Given the description of an element on the screen output the (x, y) to click on. 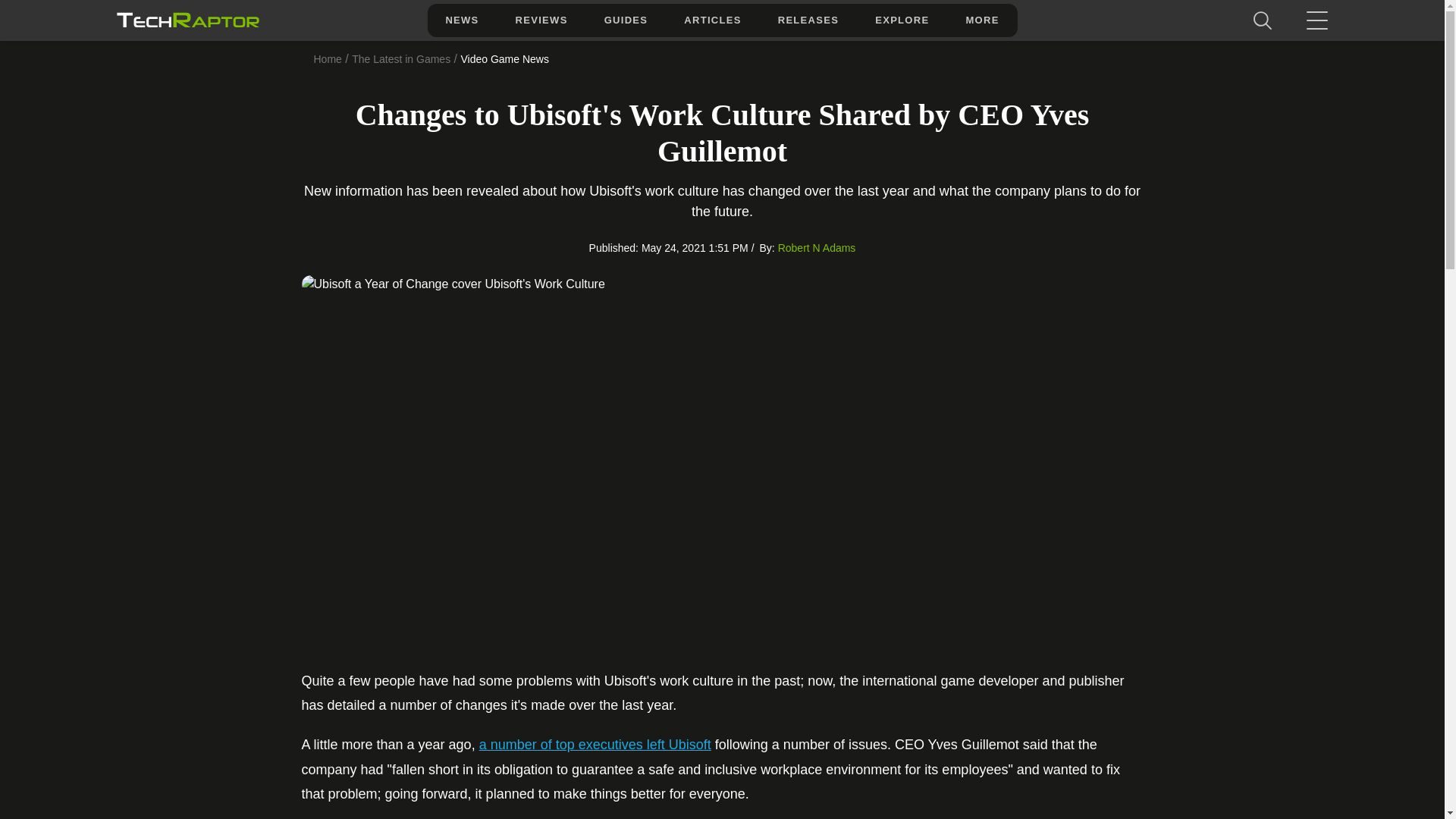
TechRaptor Home (187, 20)
NEWS (461, 20)
ARTICLES (711, 20)
REVIEWS (541, 20)
GUIDES (626, 20)
RELEASES (807, 20)
